Given the description of an element on the screen output the (x, y) to click on. 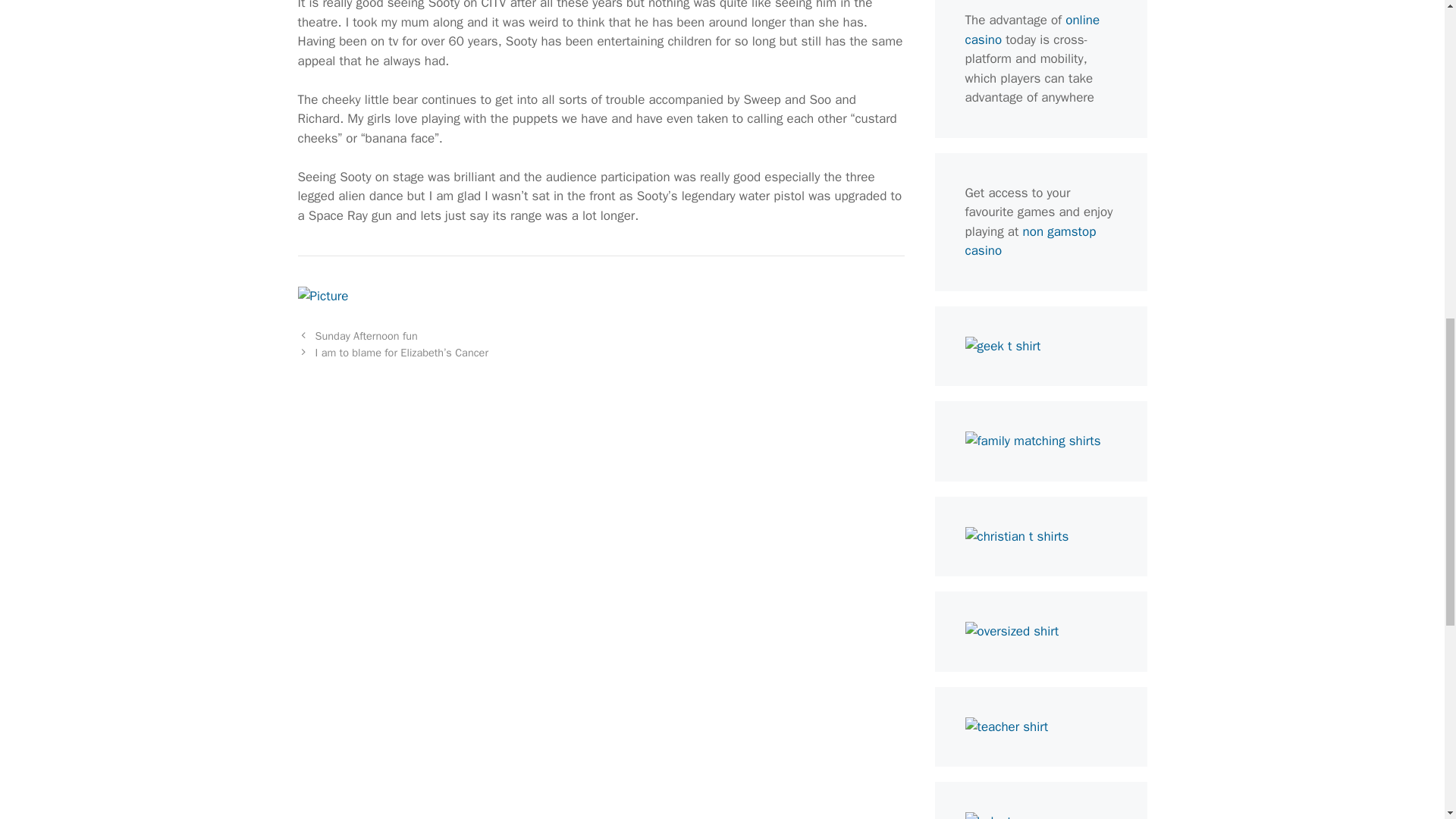
teacher shirt (1005, 726)
Sunday Afternoon fun (366, 336)
family matching shirts (1031, 440)
online casino (1031, 29)
non gamstop casino (1029, 240)
Scroll back to top (1406, 720)
christian t shirts (1015, 535)
baby tees (996, 816)
geek t shirt (1002, 345)
oversized shirt (1010, 631)
